Given the description of an element on the screen output the (x, y) to click on. 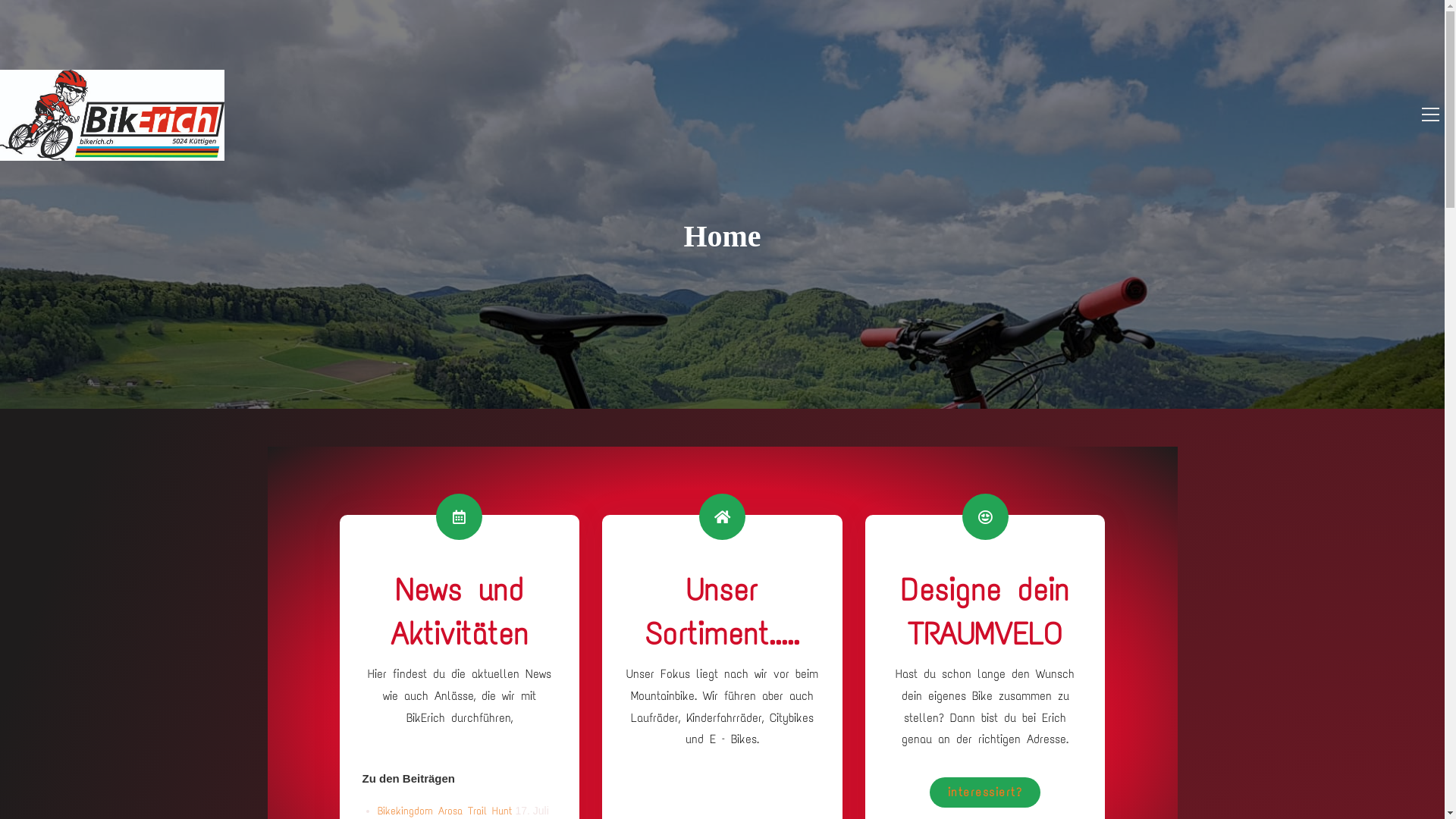
interessiert? Element type: text (985, 792)
Bikekingdom Arosa Trail Hunt Element type: text (444, 810)
